Given the description of an element on the screen output the (x, y) to click on. 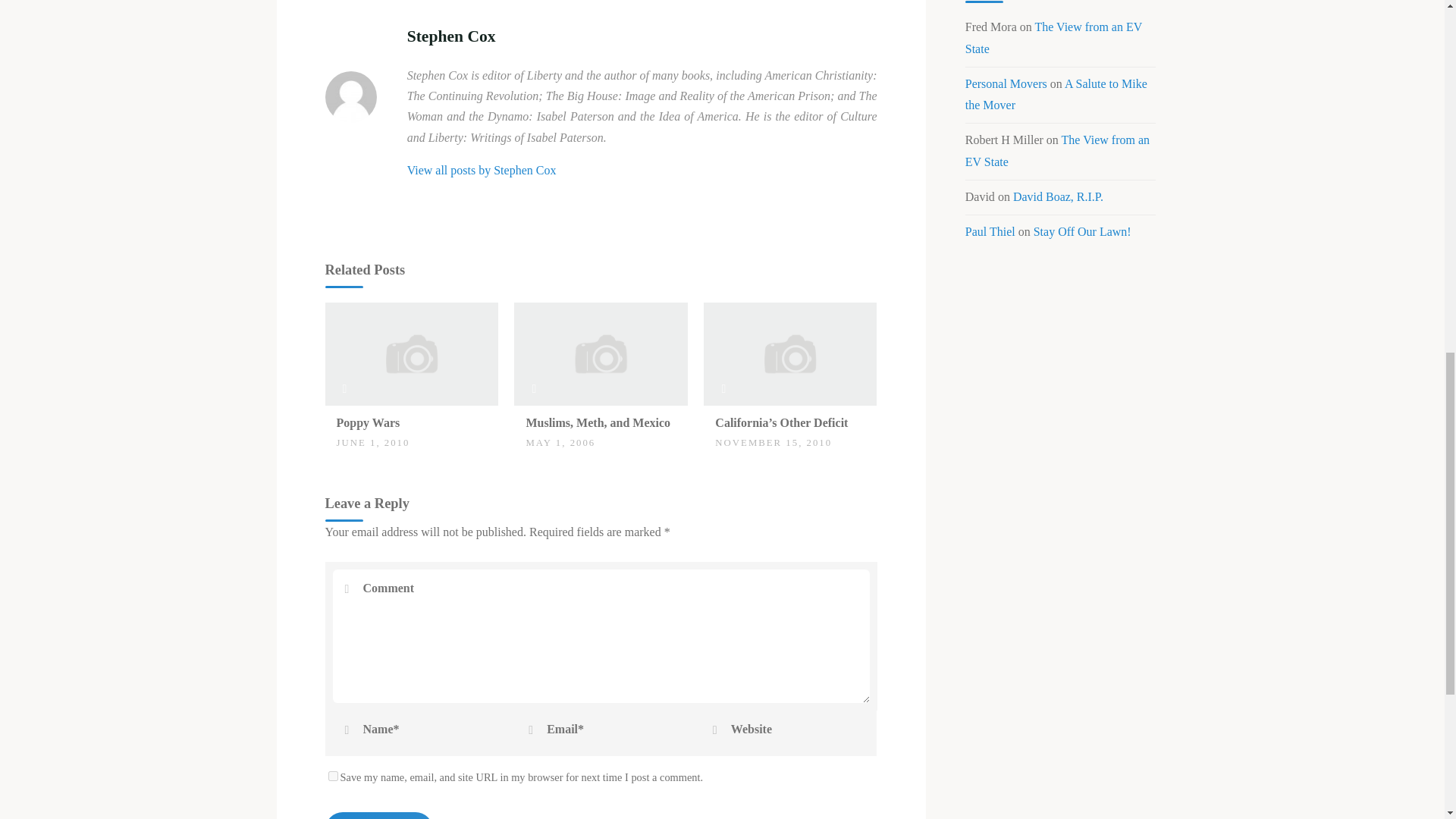
Poppy Wars (368, 422)
0 (344, 415)
Poppy Wars (410, 352)
View all posts by Stephen Cox (481, 169)
Poppy Wars (368, 422)
yes (332, 776)
Post Comment (378, 815)
